Given the description of an element on the screen output the (x, y) to click on. 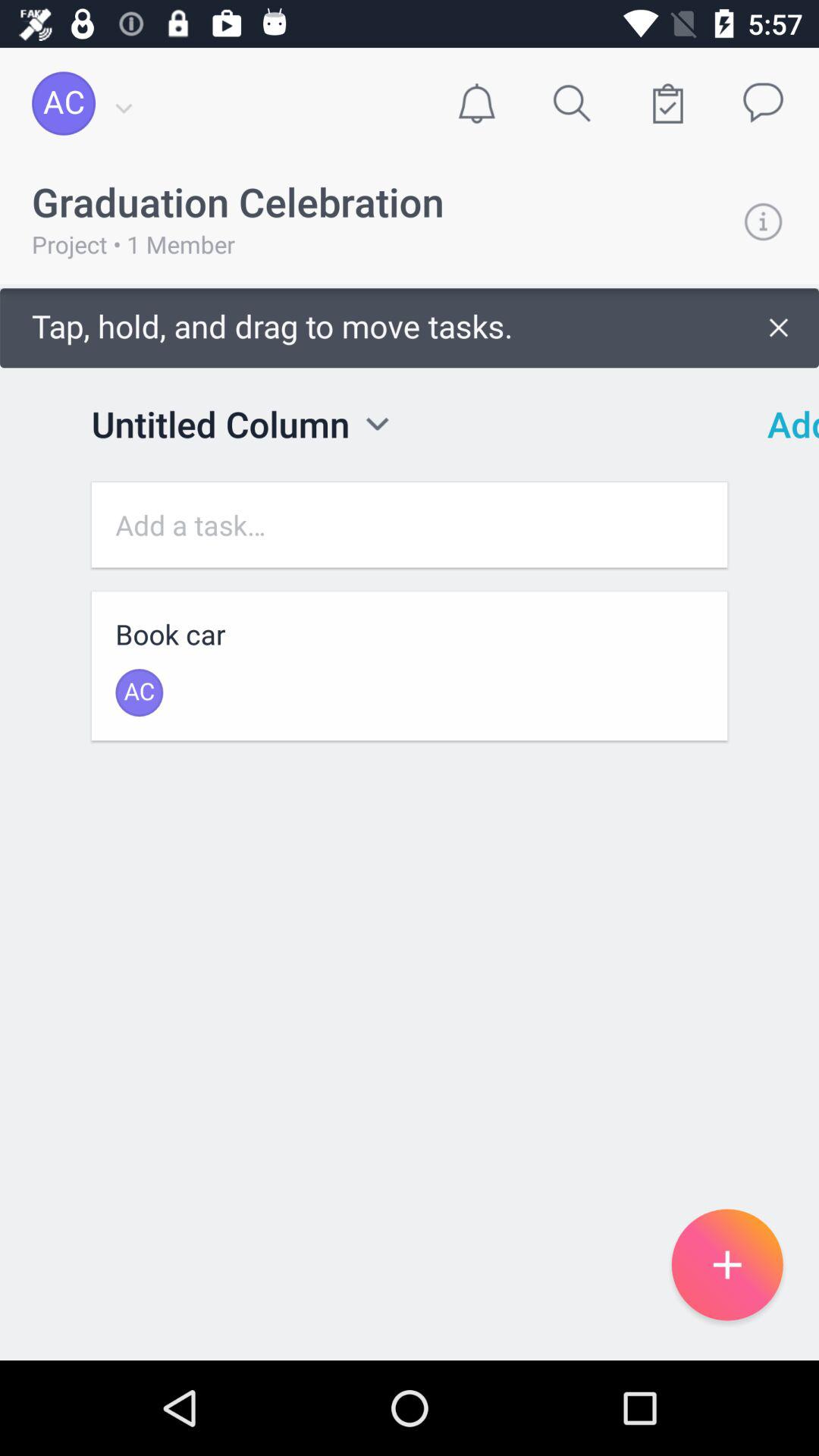
turn off icon to the right of the untitled column icon (377, 423)
